Given the description of an element on the screen output the (x, y) to click on. 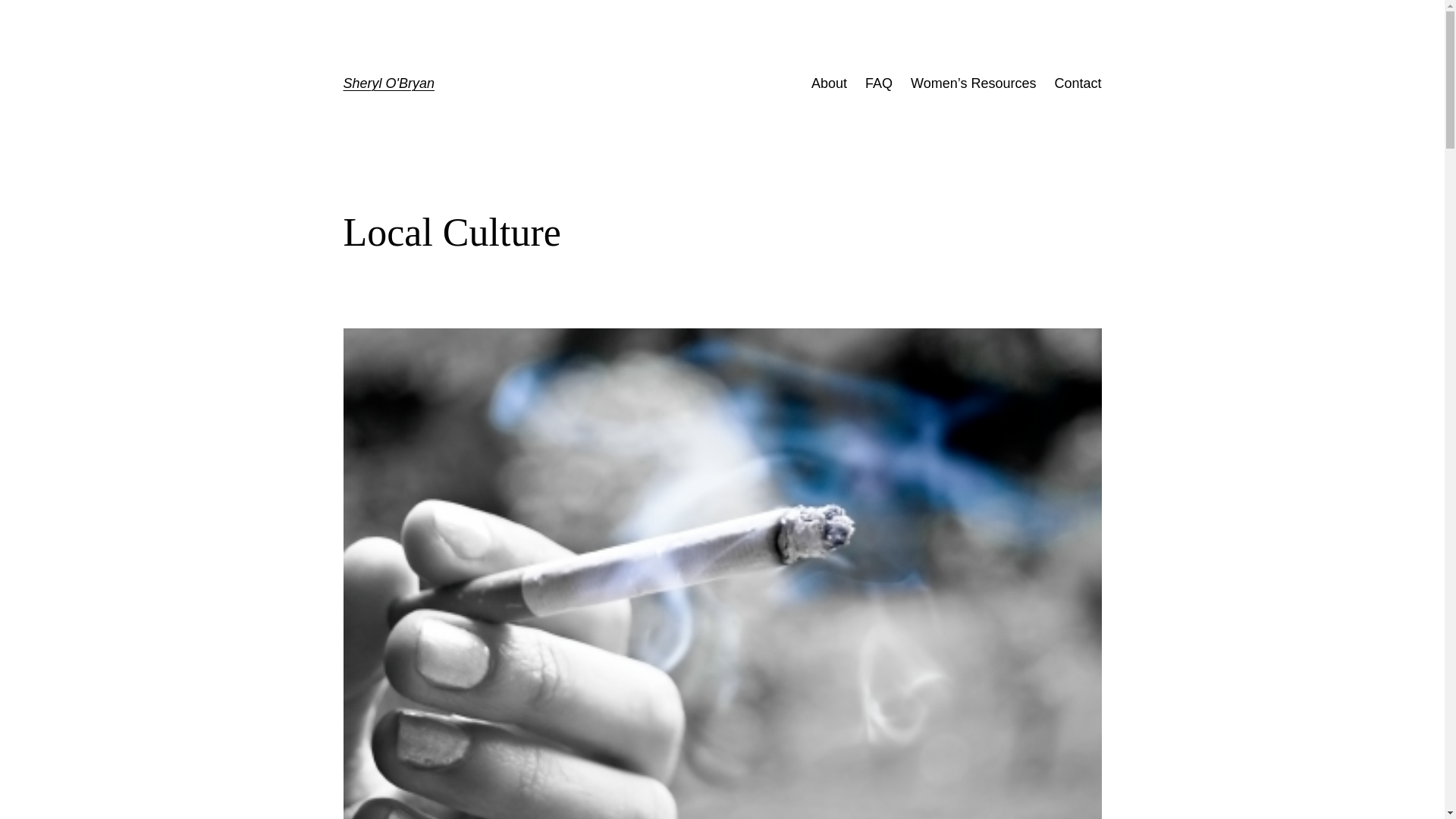
About (828, 83)
FAQ (878, 83)
Contact (1077, 83)
Sheryl O'Bryan (387, 83)
